Given the description of an element on the screen output the (x, y) to click on. 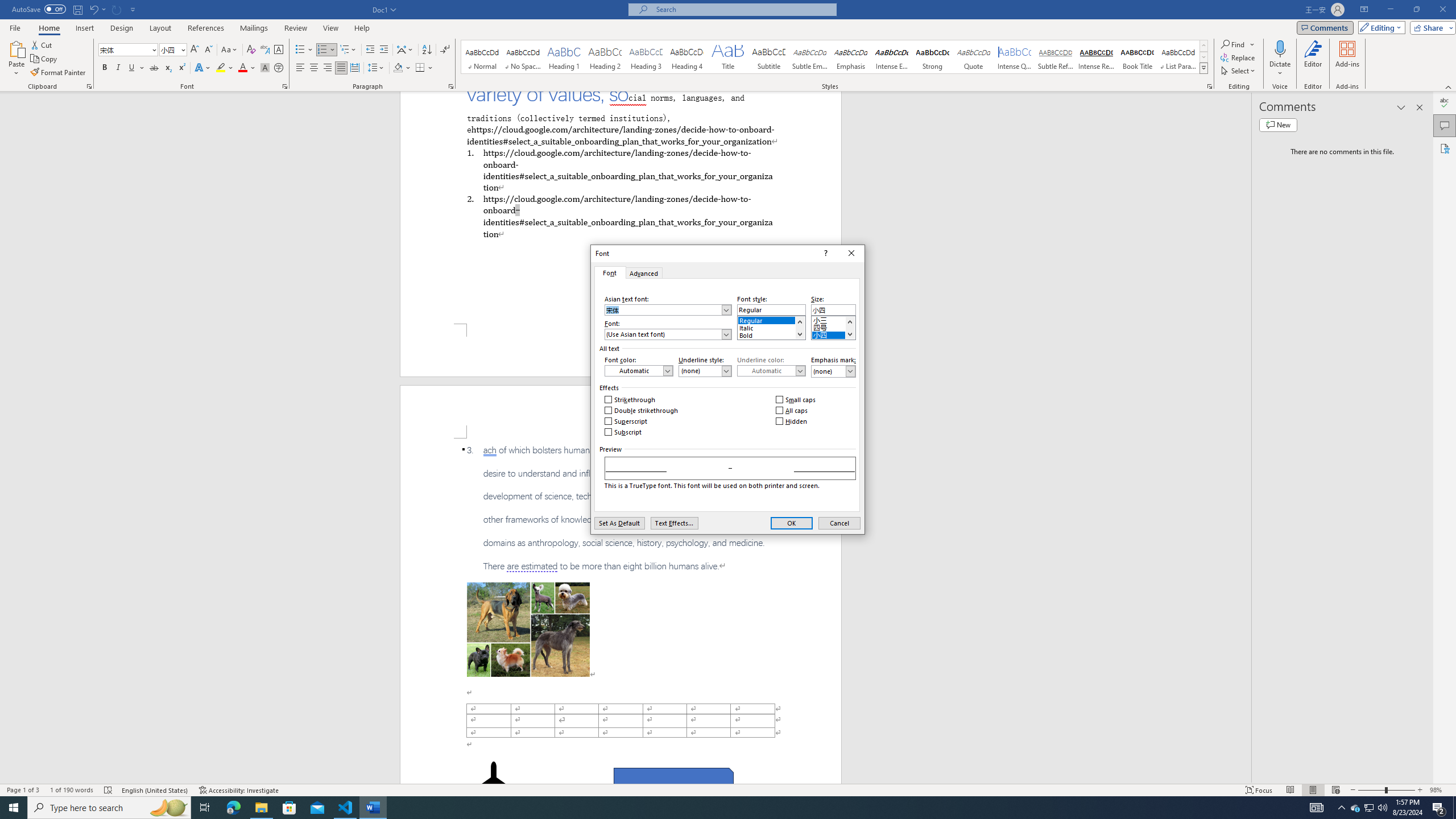
Text Highlight Color (224, 67)
Close (851, 253)
Close pane (1419, 107)
Line and Paragraph Spacing (376, 67)
Accessibility (1444, 147)
Increase Indent (383, 49)
Small caps (796, 399)
Select (1238, 69)
Intense Quote (1014, 56)
Zoom (1386, 790)
Font (128, 49)
Customize Quick Access Toolbar (133, 9)
Restore Down (1416, 9)
